Given the description of an element on the screen output the (x, y) to click on. 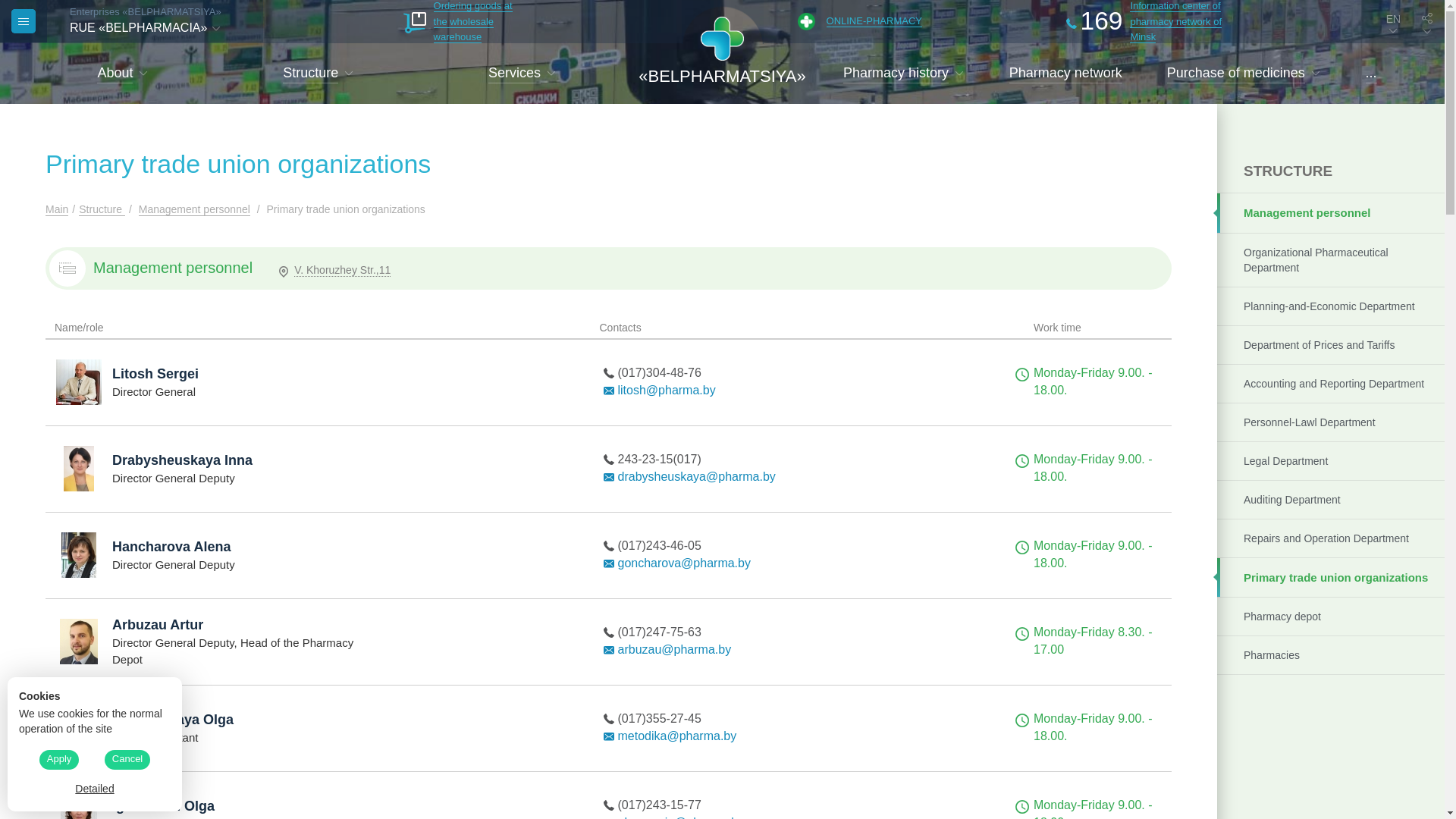
Structure Element type: text (310, 73)
Organizational Pharmaceutical Department Element type: text (1330, 259)
Legal Department Element type: text (1330, 460)
Primary trade union organizations Element type: text (1330, 576)
arbuzau@pharma.by Element type: text (674, 649)
Department of Prices and Tariffs Element type: text (1330, 344)
Pharmacy depot Element type: text (1330, 615)
(017)243-15-77 Element type: text (658, 804)
Pharmacies Element type: text (1330, 654)
drabysheuskaya@pharma.by Element type: text (696, 476)
Management personnel Element type: text (1330, 212)
243-23-15(017) Element type: text (658, 458)
169
Information center of pharmacy network of Minsk Element type: text (1148, 21)
metodika@pharma.by Element type: text (676, 735)
Auditing Department Element type: text (1330, 499)
(017)304-48-76 Element type: text (658, 372)
(017)247-75-63 Element type: text (658, 631)
(017)355-27-45 Element type: text (658, 718)
ONLINE-PHARMACY Element type: text (859, 21)
Pharmacy history Element type: text (895, 73)
About Element type: text (114, 73)
Main Element type: text (56, 209)
Structure Element type: text (101, 209)
goncharova@pharma.by Element type: text (683, 562)
(017)243-46-05 Element type: text (658, 545)
litosh@pharma.by Element type: text (666, 389)
Planning-and-Economic Department Element type: text (1330, 305)
Pharmacy network Element type: text (1065, 73)
Personnel-Lawl Department Element type: text (1330, 421)
... Element type: text (1371, 73)
Purchase of medicines Element type: text (1236, 73)
Services Element type: text (514, 73)
Accounting and Reporting Department Element type: text (1330, 383)
Repairs and Operation Department Element type: text (1330, 537)
Management personnel Element type: text (194, 209)
Detailed Element type: text (94, 788)
Ordering goods at the wholesale warehouse Element type: text (460, 21)
